Given the description of an element on the screen output the (x, y) to click on. 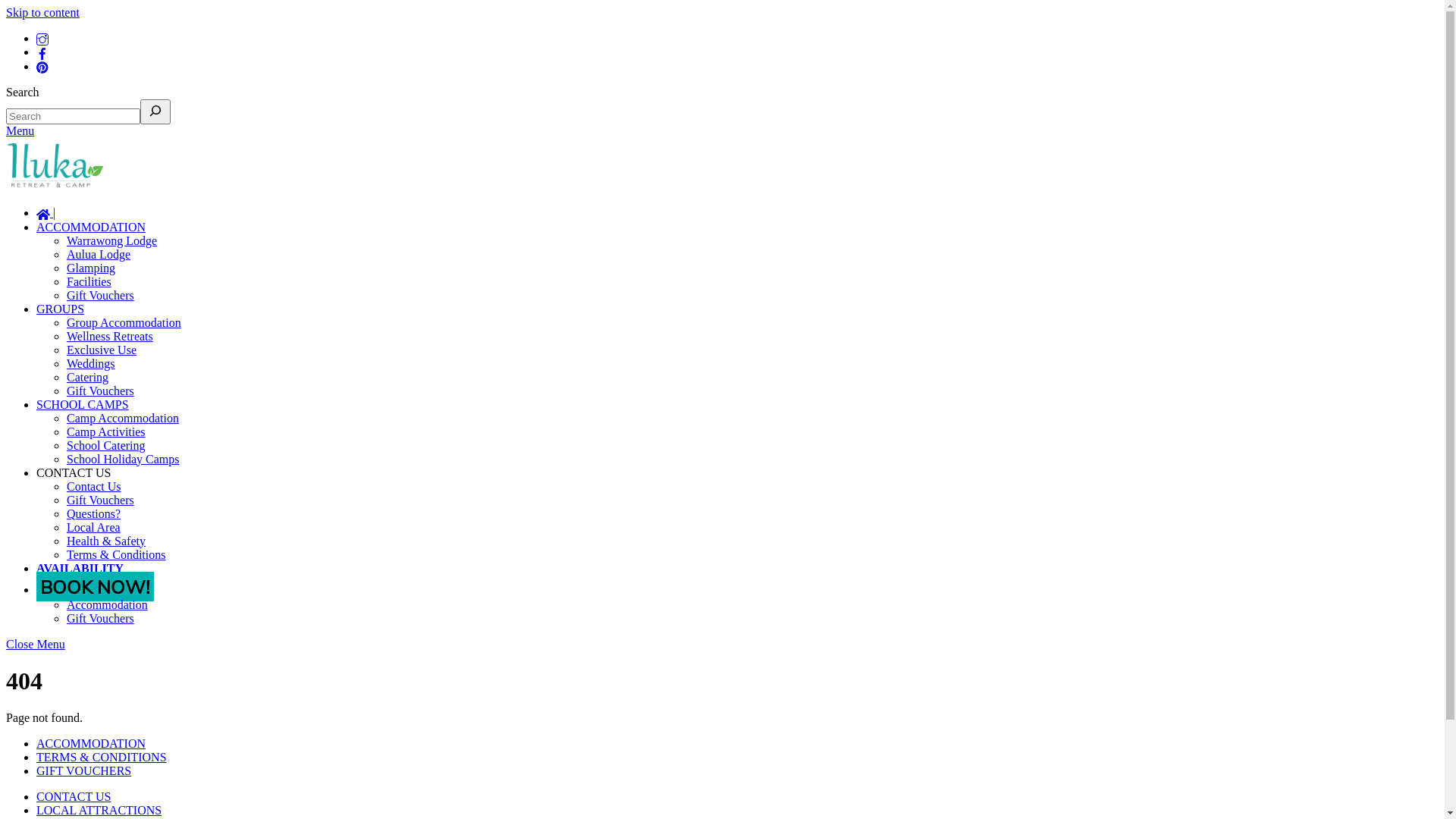
Catering Element type: text (87, 376)
TERMS & CONDITIONS Element type: text (101, 756)
Aulua Lodge Element type: text (98, 253)
Logo-JPEG Element type: hover (55, 164)
GROUPS Element type: text (60, 307)
Contact Us Element type: text (93, 485)
Weddings Element type: text (90, 362)
LOCAL ATTRACTIONS Element type: text (98, 809)
GIFT VOUCHERS Element type: text (83, 770)
Gift Vouchers Element type: text (100, 617)
Camp Activities Element type: text (105, 430)
Terms & Conditions Element type: text (115, 553)
| Element type: text (45, 212)
Facilities Element type: text (88, 280)
Group Accommodation Element type: text (123, 321)
Gift Vouchers Element type: text (100, 294)
SCHOOL CAMPS Element type: text (82, 403)
Local Area Element type: text (93, 526)
Gift Vouchers Element type: text (100, 389)
AVAILABILITY Element type: text (79, 567)
Questions? Element type: text (93, 512)
ACCOMMODATION Element type: text (90, 743)
Glamping Element type: text (90, 266)
Close Menu Element type: text (35, 643)
Exclusive Use Element type: text (101, 348)
Gift Vouchers Element type: text (100, 498)
Health & Safety Element type: text (105, 539)
ACCOMMODATION Element type: text (90, 225)
Camp Accommodation Element type: text (122, 417)
Warrawong Lodge Element type: text (111, 239)
Wellness Retreats Element type: text (109, 335)
CONTACT US Element type: text (73, 796)
BOOK NOW! Element type: text (94, 588)
Menu Element type: text (20, 130)
School Catering Element type: text (105, 444)
School Holiday Camps Element type: text (122, 457)
Iluka Retreat & Camp | Mornington Peninsula Element type: hover (55, 186)
Skip to content Element type: text (42, 12)
Accommodation Element type: text (106, 603)
CONTACT US Element type: text (73, 471)
